Given the description of an element on the screen output the (x, y) to click on. 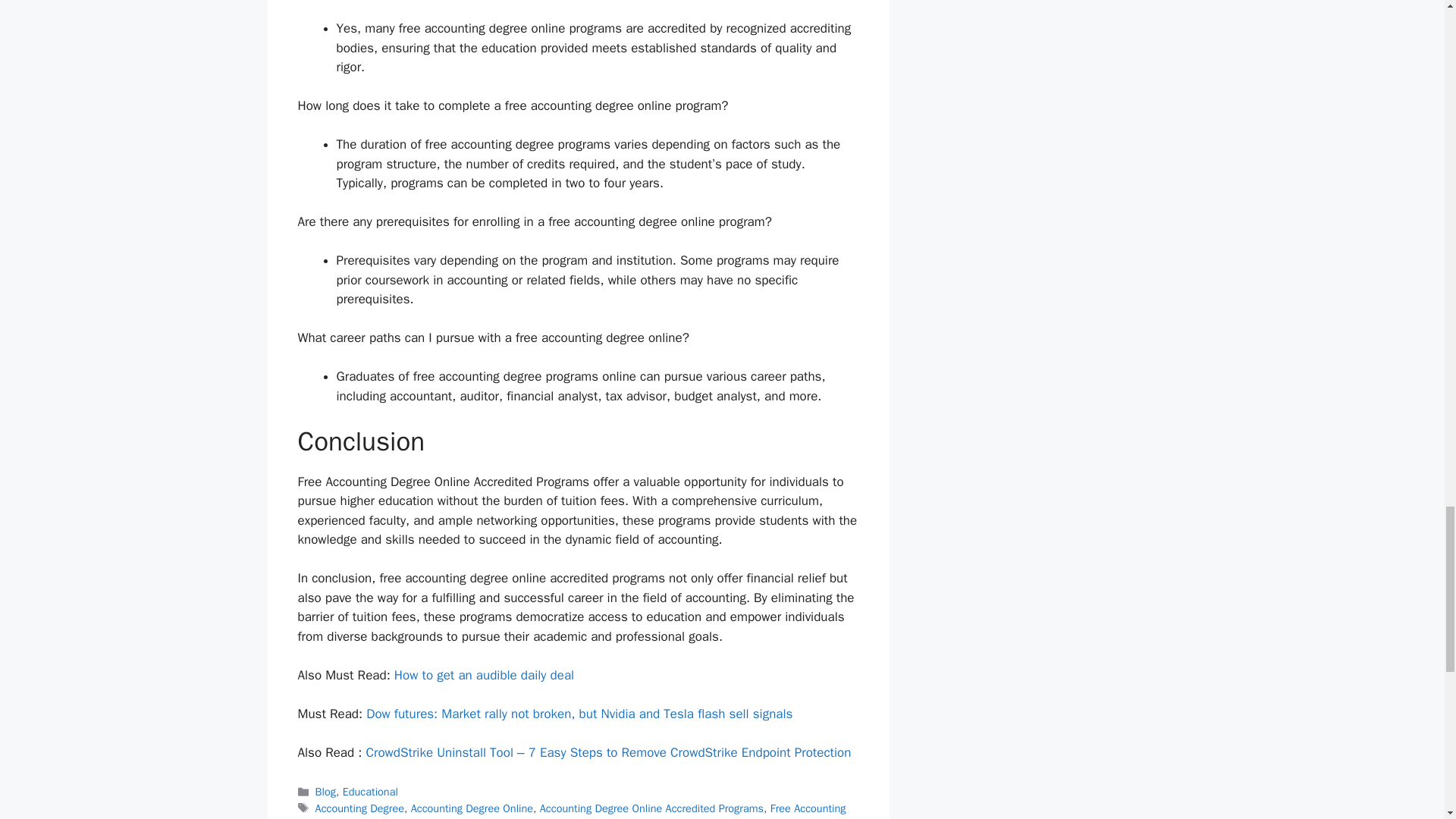
Accounting Degree Online (471, 807)
Free Accounting Degree (571, 810)
Blog (325, 791)
Accounting Degree Online Accredited Programs (651, 807)
Accounting Degree (359, 807)
Educational (369, 791)
How to get an audible daily deal (483, 675)
